Given the description of an element on the screen output the (x, y) to click on. 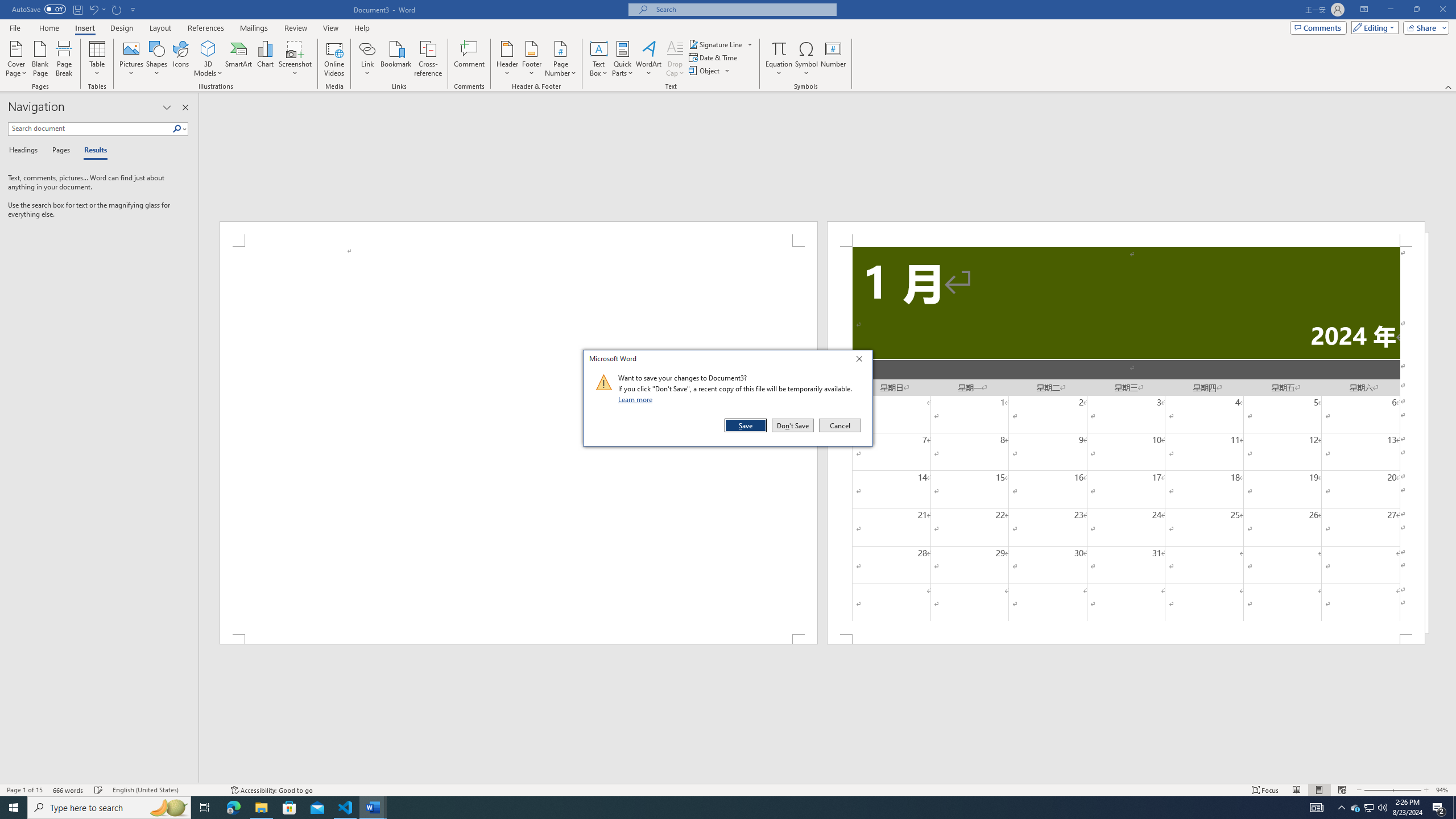
Running applications (717, 807)
Icons (180, 58)
Signature Line (721, 44)
Table (97, 58)
Number... (833, 58)
Signature Line (716, 44)
Screenshot (295, 58)
